Given the description of an element on the screen output the (x, y) to click on. 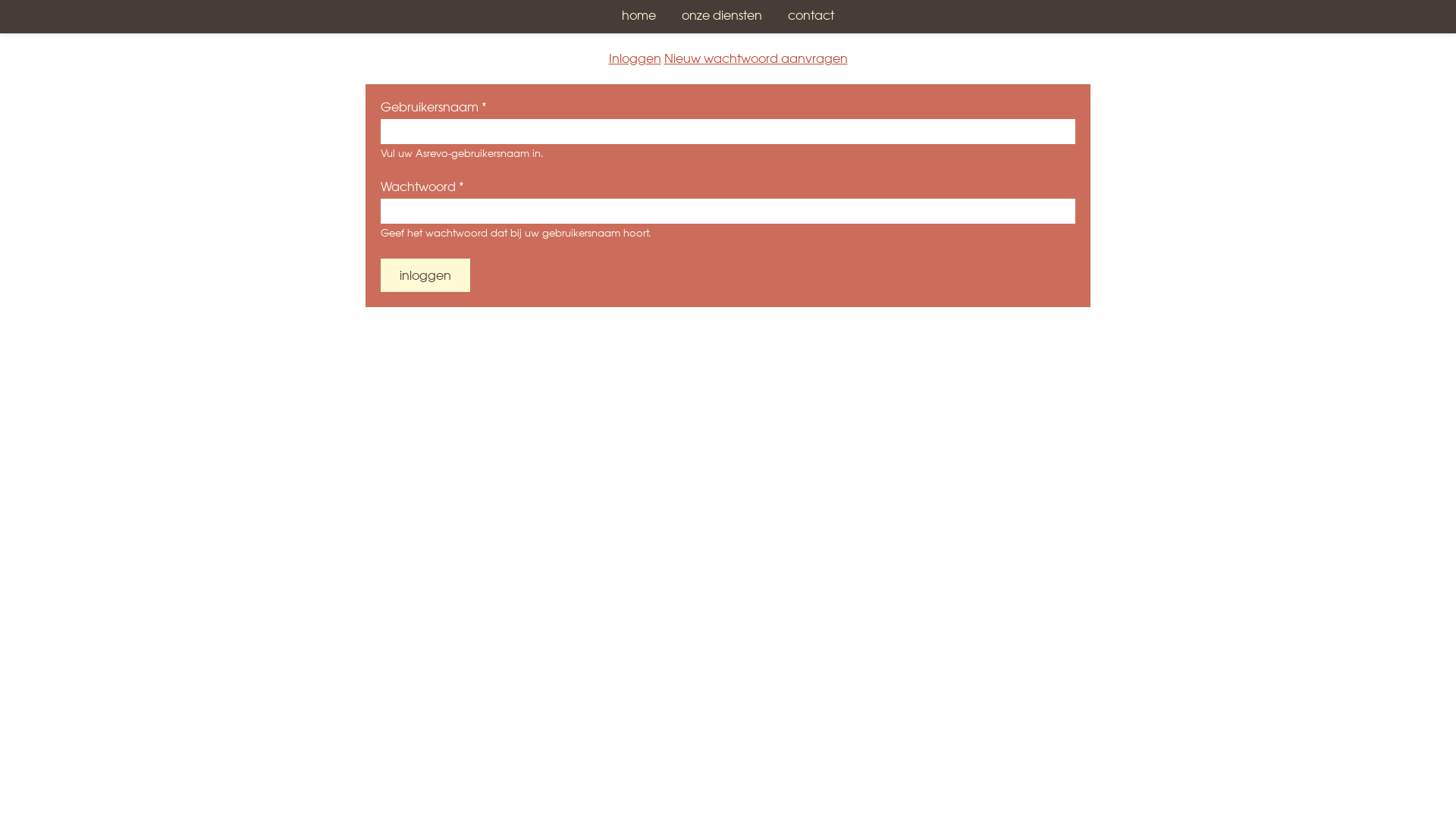
Inloggen Element type: text (425, 274)
contact Element type: text (810, 16)
Overslaan en naar de inhoud gaan Element type: text (103, 0)
Inloggen
(actieve tabblad) Element type: text (634, 59)
onze diensten Element type: text (721, 16)
home Element type: text (638, 16)
Nieuw wachtwoord aanvragen Element type: text (755, 59)
